Given the description of an element on the screen output the (x, y) to click on. 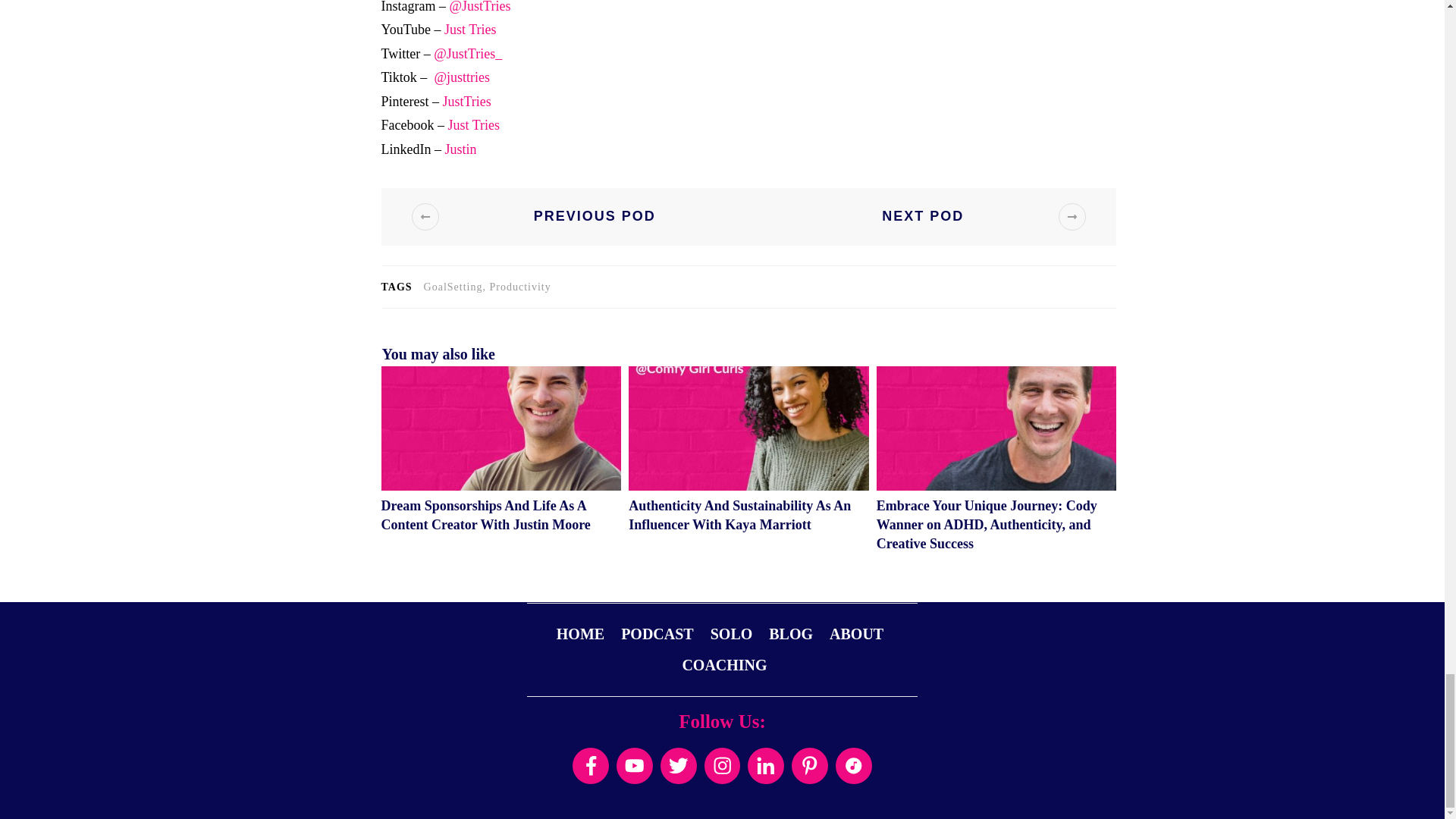
Just Tries (471, 124)
PREVIOUS POD (574, 216)
JustTries (465, 101)
Just Tries (468, 29)
Justin (460, 149)
NEXT POD (942, 216)
